Given the description of an element on the screen output the (x, y) to click on. 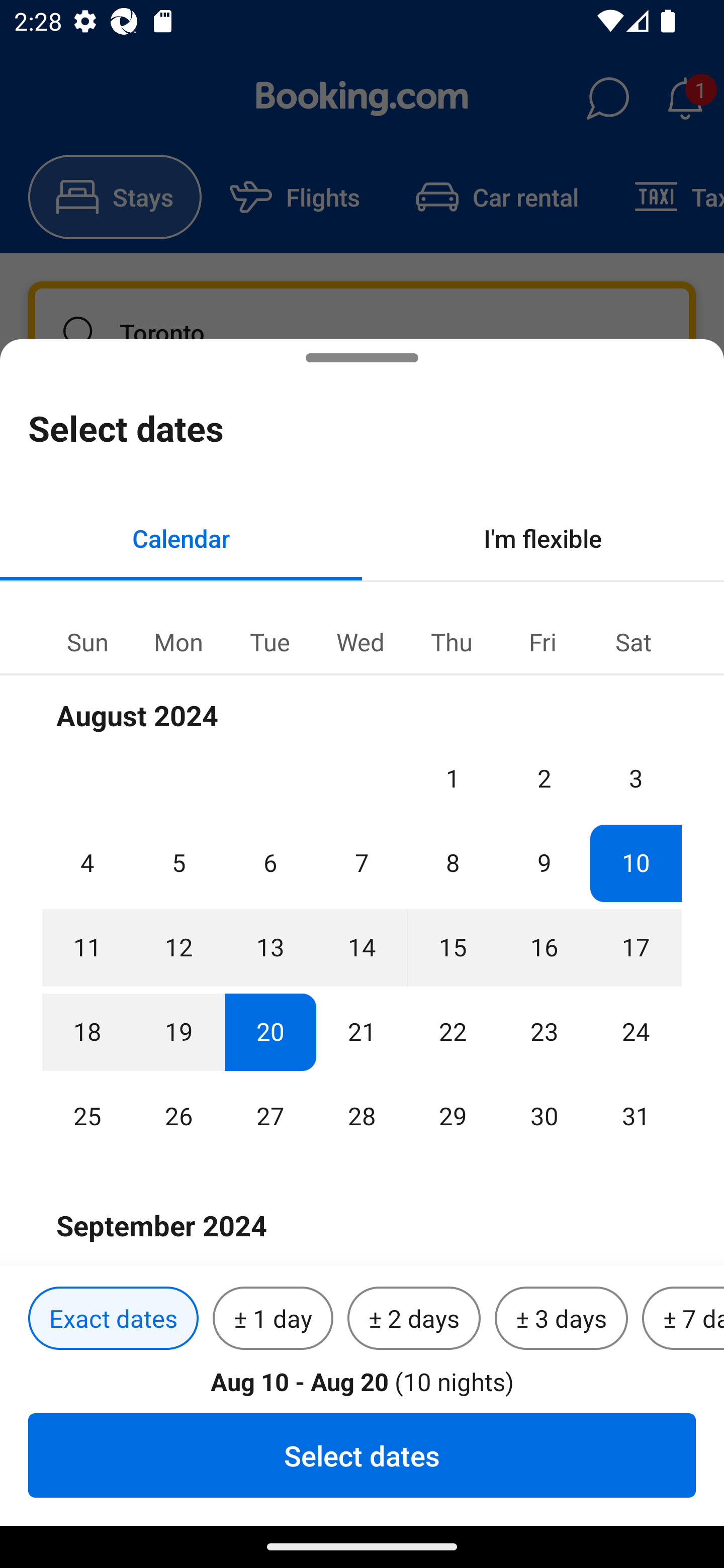
I'm flexible (543, 537)
Exact dates (113, 1318)
± 1 day (272, 1318)
± 2 days (413, 1318)
± 3 days (560, 1318)
± 7 days (683, 1318)
Select dates (361, 1454)
